Given the description of an element on the screen output the (x, y) to click on. 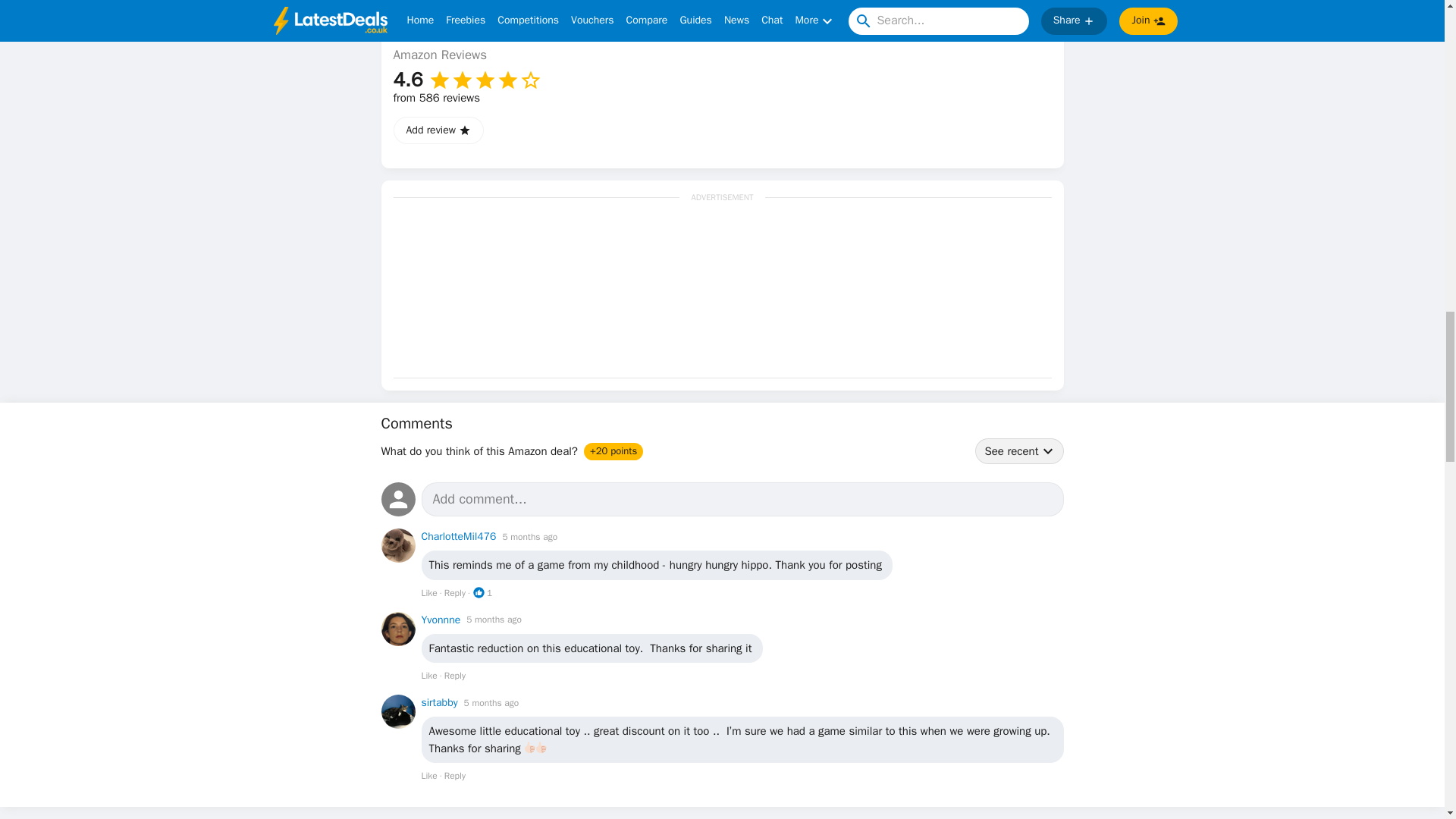
CharlotteMil476 (459, 536)
sirtabby (440, 702)
Yvonnne (441, 619)
